Given the description of an element on the screen output the (x, y) to click on. 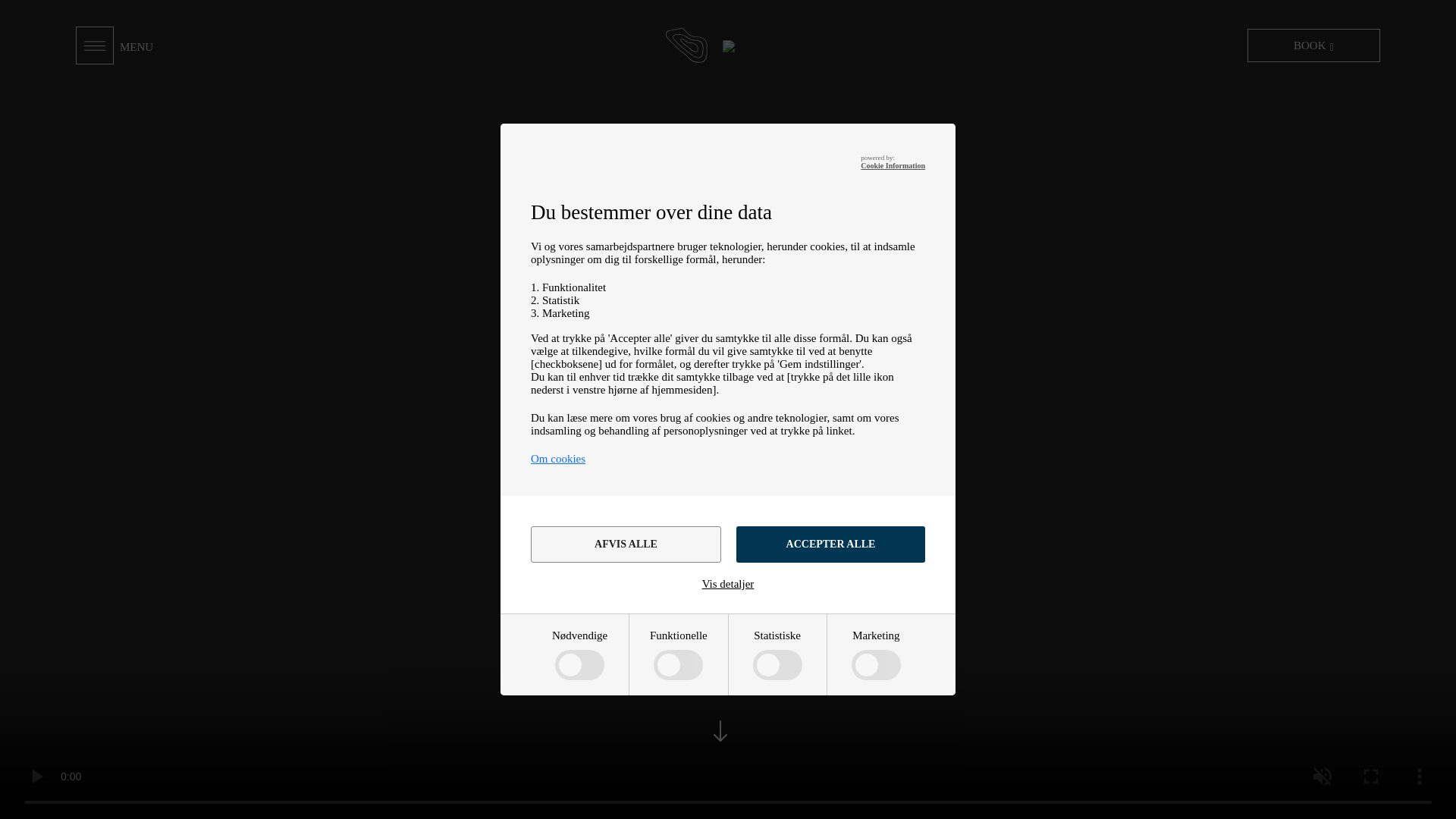
ACCEPTER ALLE (830, 544)
Vis detaljer (727, 584)
AFVIS ALLE (625, 544)
Cookie Information (892, 165)
Om cookies (558, 458)
